Given the description of an element on the screen output the (x, y) to click on. 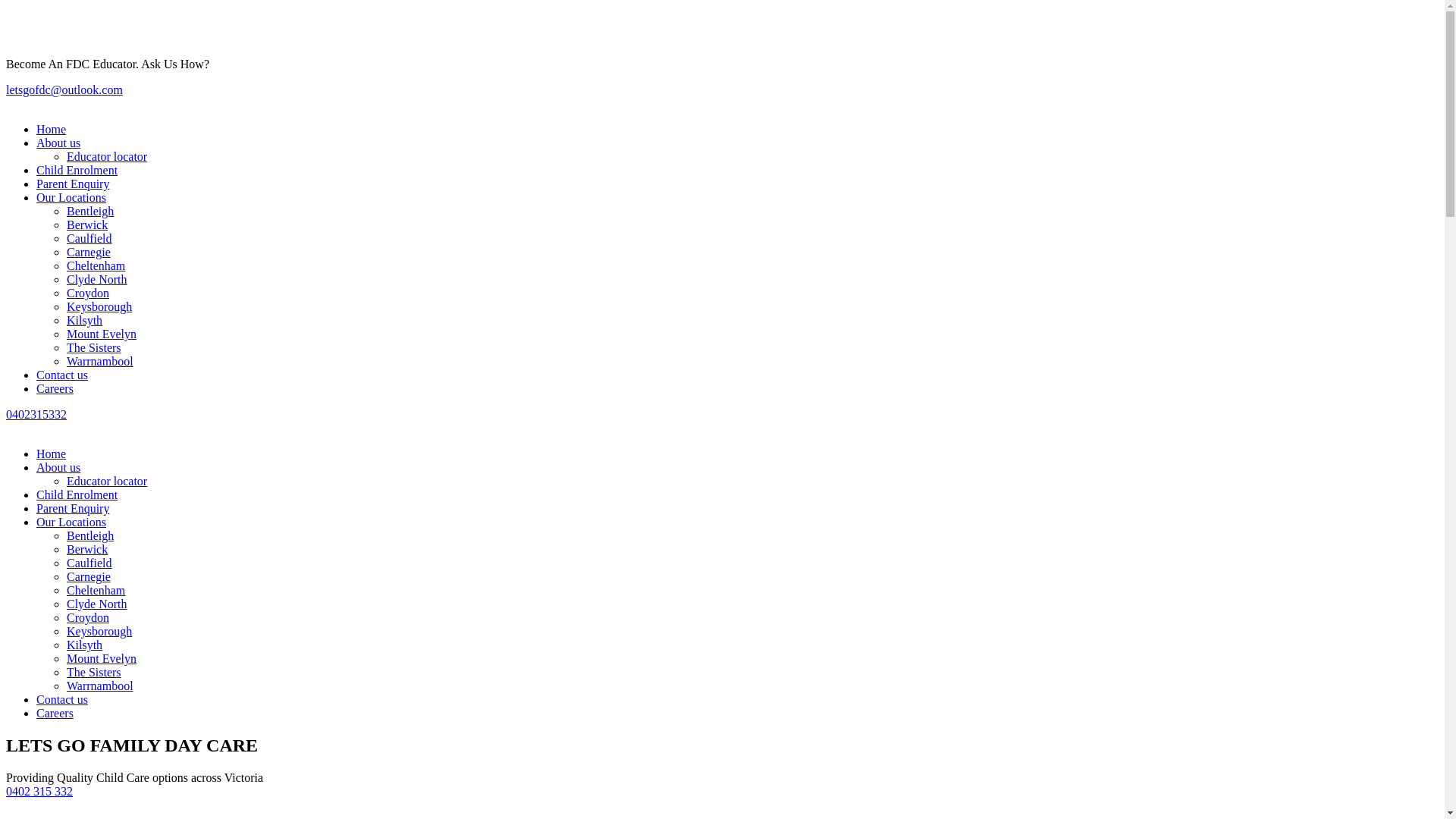
Mount Evelyn Element type: text (101, 333)
Parent Enquiry Element type: text (72, 183)
Berwick Element type: text (86, 224)
Educator locator Element type: text (106, 480)
Our Locations Element type: text (71, 521)
Croydon Element type: text (87, 292)
Warrnambool Element type: text (99, 360)
Caulfield Element type: text (89, 238)
Educator locator Element type: text (106, 156)
Bentleigh Element type: text (89, 535)
Carnegie Element type: text (88, 251)
Contact us Element type: text (61, 374)
Home Element type: text (50, 453)
Clyde North Element type: text (96, 603)
Warrnambool Element type: text (99, 685)
Kilsyth Element type: text (84, 644)
Careers Element type: text (54, 388)
Kilsyth Element type: text (84, 319)
Parent Enquiry Element type: text (72, 508)
0402 315 332 Element type: text (39, 790)
Child Enrolment Element type: text (76, 169)
Contact us Element type: text (61, 699)
0402315332 Element type: text (36, 413)
Clyde North Element type: text (96, 279)
Carnegie Element type: text (88, 576)
letsgofdc@outlook.com Element type: text (64, 89)
Cheltenham Element type: text (95, 589)
About us Element type: text (58, 142)
Our Locations Element type: text (71, 197)
Cheltenham Element type: text (95, 265)
Child Enrolment Element type: text (76, 494)
Berwick Element type: text (86, 548)
Croydon Element type: text (87, 617)
Careers Element type: text (54, 712)
Mount Evelyn Element type: text (101, 658)
The Sisters Element type: text (93, 347)
Bentleigh Element type: text (89, 210)
Keysborough Element type: text (98, 630)
The Sisters Element type: text (93, 671)
Tel: 0402 315 332 Element type: text (50, 37)
Keysborough Element type: text (98, 306)
Caulfield Element type: text (89, 562)
About us Element type: text (58, 467)
Home Element type: text (50, 128)
